Given the description of an element on the screen output the (x, y) to click on. 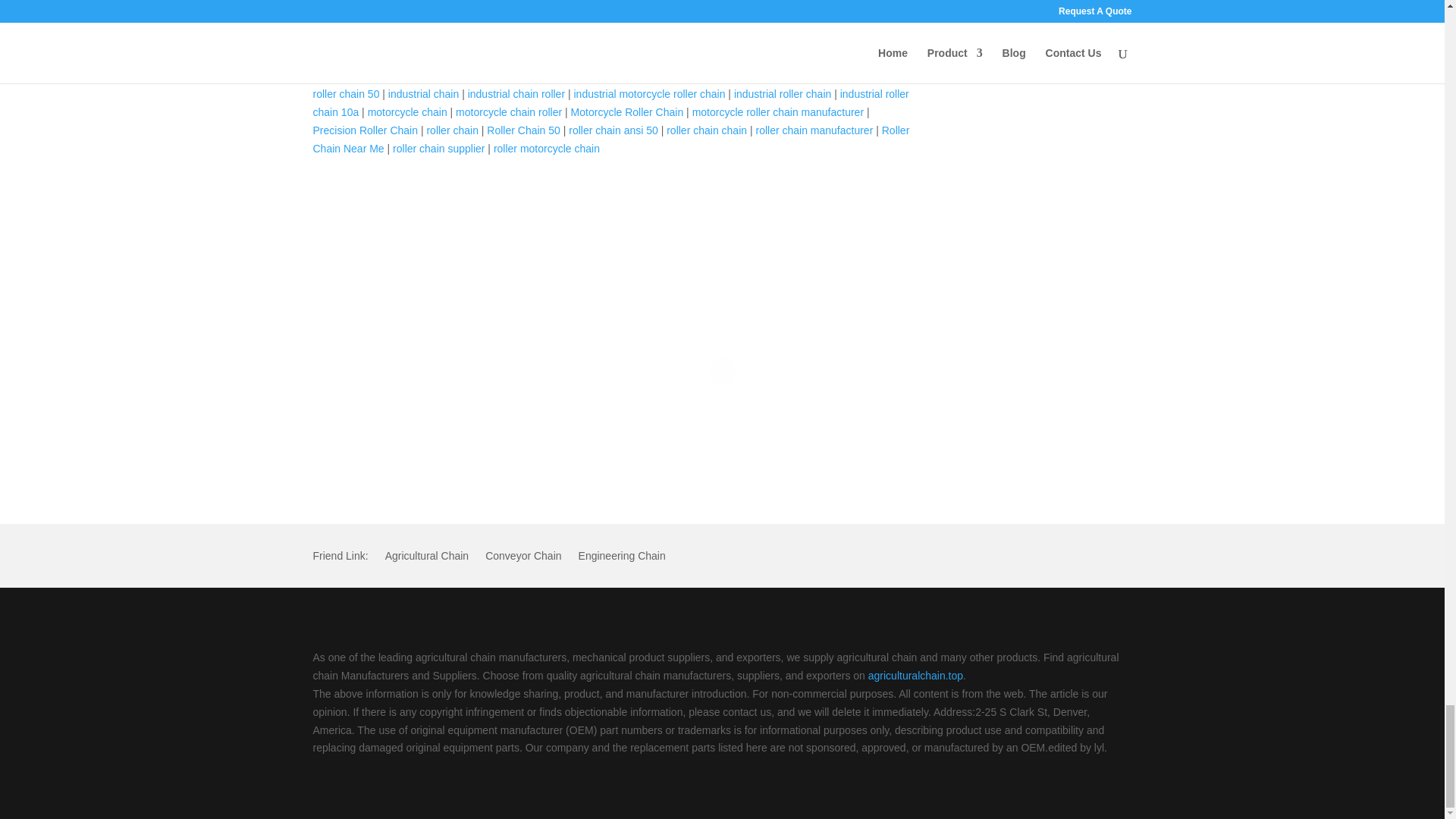
industrial motorcycle roller chain (649, 93)
china precision roller chain (715, 75)
ansi roller chain 50 (668, 58)
industrial chain roller (515, 93)
motorcycle chain (407, 111)
china roller chain 50 (611, 84)
agricultural motorcycle (757, 39)
china chain (339, 75)
chain roller chain (855, 58)
industrial roller chain 10a (610, 102)
Agricultural Roller Chain (369, 58)
agricultural roller (858, 39)
industrial chain (423, 93)
Ansi Roller Chain (573, 58)
50 roller chain (456, 39)
